Given the description of an element on the screen output the (x, y) to click on. 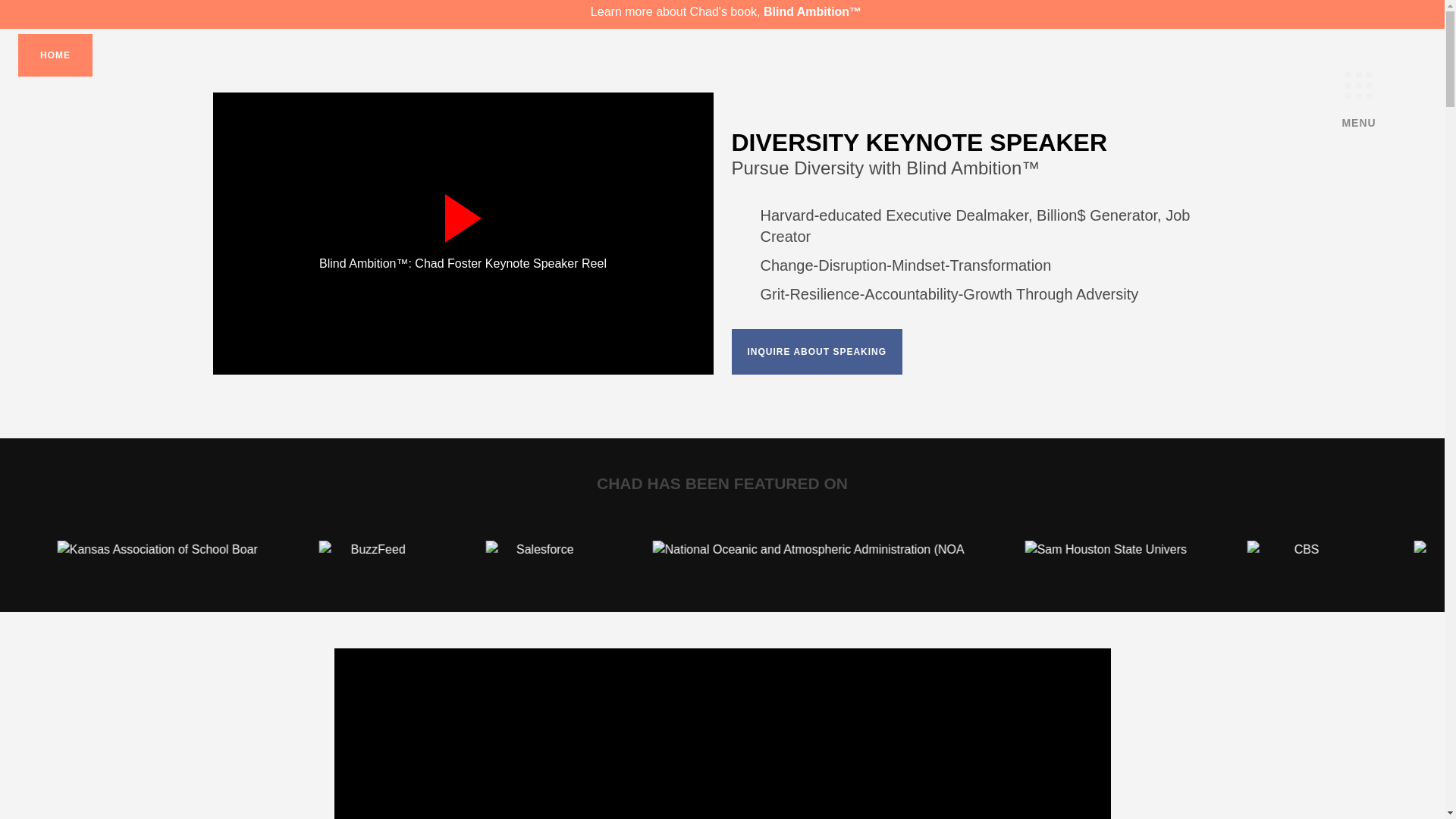
Open navigation (1358, 85)
